Given the description of an element on the screen output the (x, y) to click on. 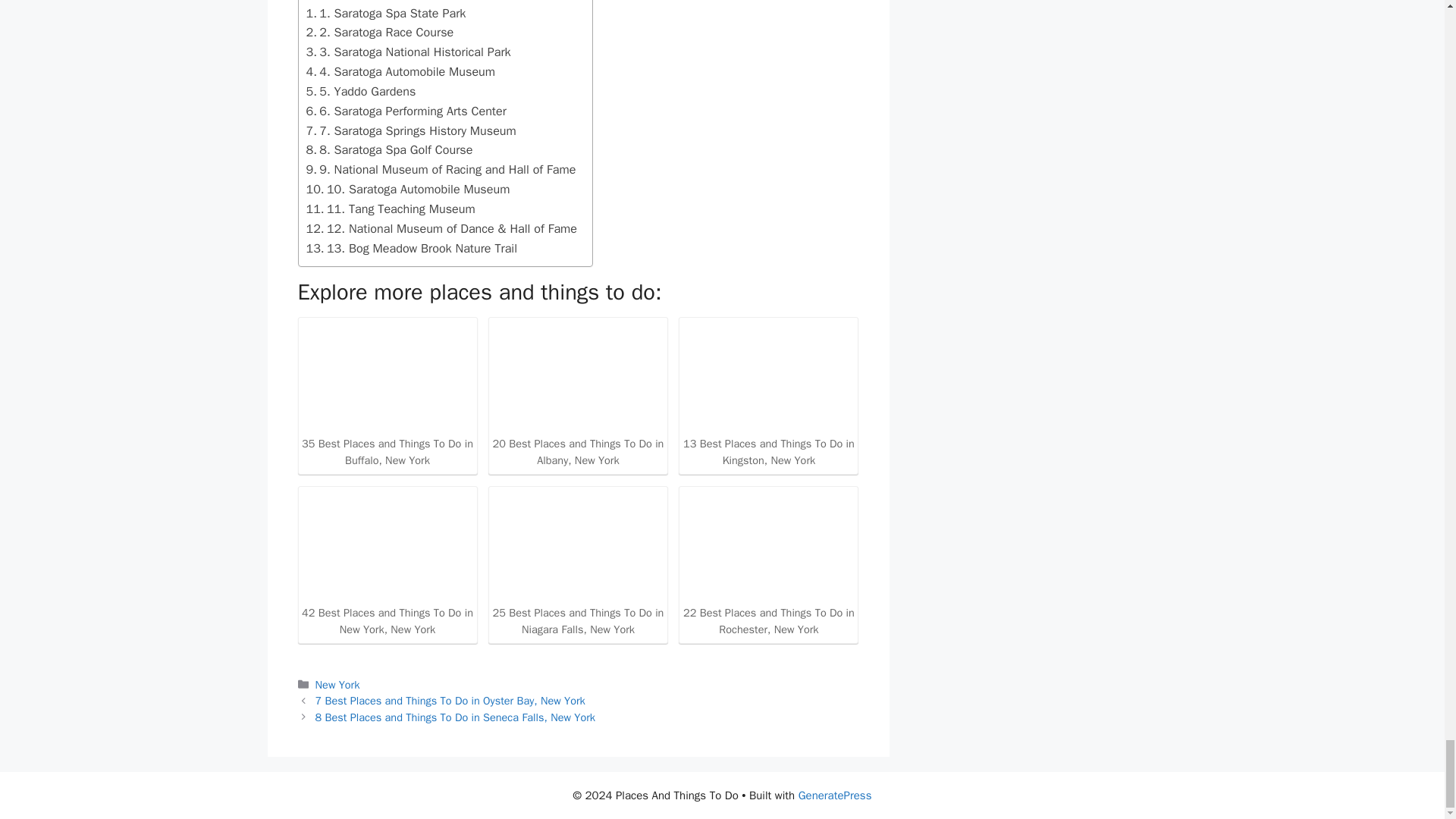
5. Yaddo Gardens (360, 91)
8. Saratoga Spa Golf Course (389, 149)
42 Best Places and Things To Do in New York, New York (386, 563)
13. Bog Meadow Brook Nature Trail (411, 248)
3. Saratoga National Historical Park (408, 52)
4. Saratoga Automobile Museum (400, 71)
1. Saratoga Spa State Park (385, 13)
11. Tang Teaching Museum (390, 209)
3. Saratoga National Historical Park (408, 52)
10. Saratoga Automobile Museum (408, 189)
9. National Museum of Racing and Hall of Fame (440, 169)
25 Best Places and Things To Do in Niagara Falls, New York (578, 563)
10. Saratoga Automobile Museum (408, 189)
7. Saratoga Springs History Museum (410, 130)
35 Best Places and Things To Do in Buffalo, New York (386, 394)
